Given the description of an element on the screen output the (x, y) to click on. 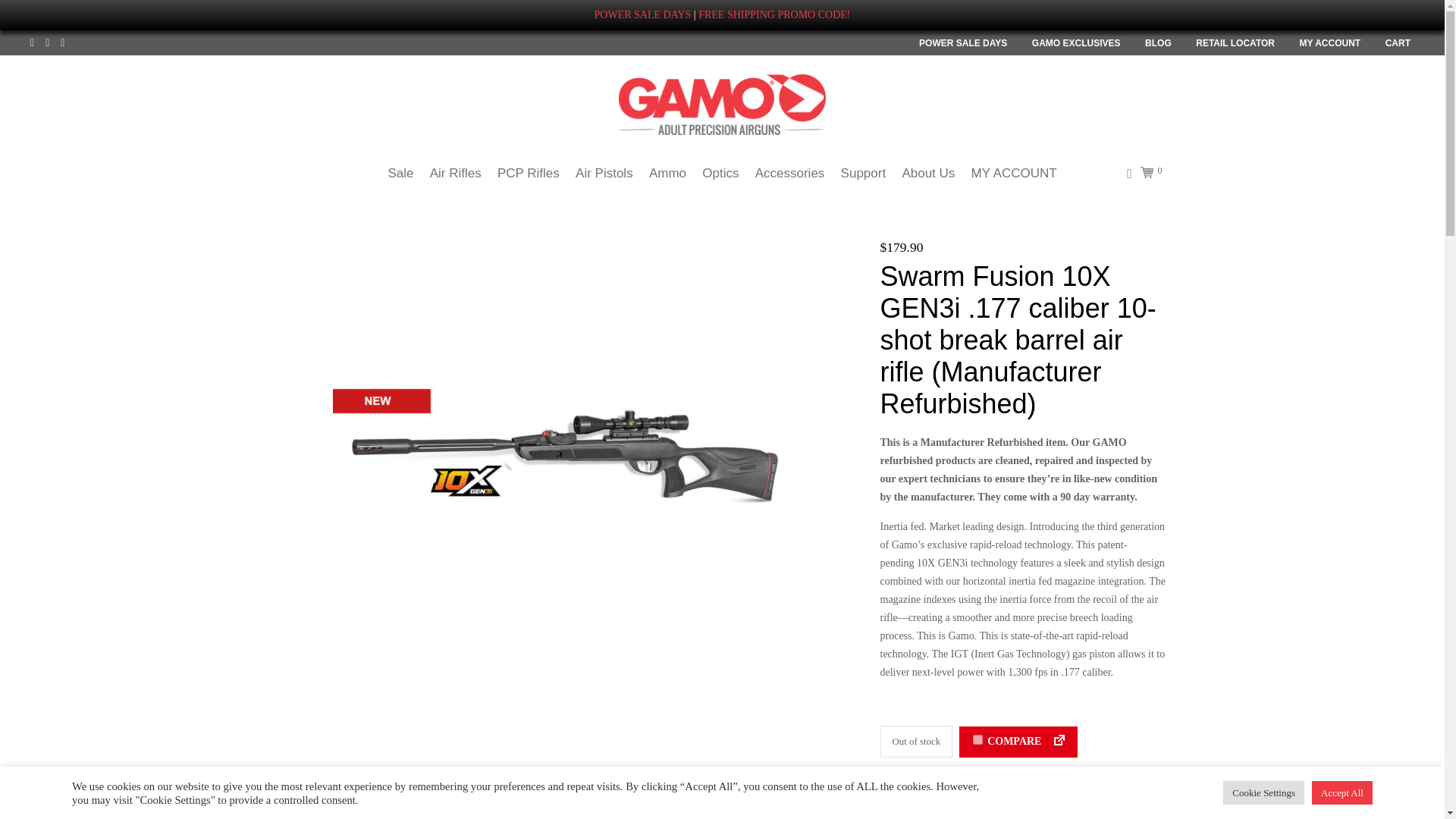
FREE SHIPPING PROMO CODE! (774, 14)
Air Rifles (454, 173)
Compare Page (1055, 740)
on (977, 739)
MY ACCOUNT (1330, 42)
BLOG (1158, 42)
POWER SALE DAYS (642, 14)
CART (1398, 42)
POWER SALE DAYS (962, 42)
GAMO EXCLUSIVES (1076, 42)
RETAIL LOCATOR (1235, 42)
Sale (400, 173)
